Given the description of an element on the screen output the (x, y) to click on. 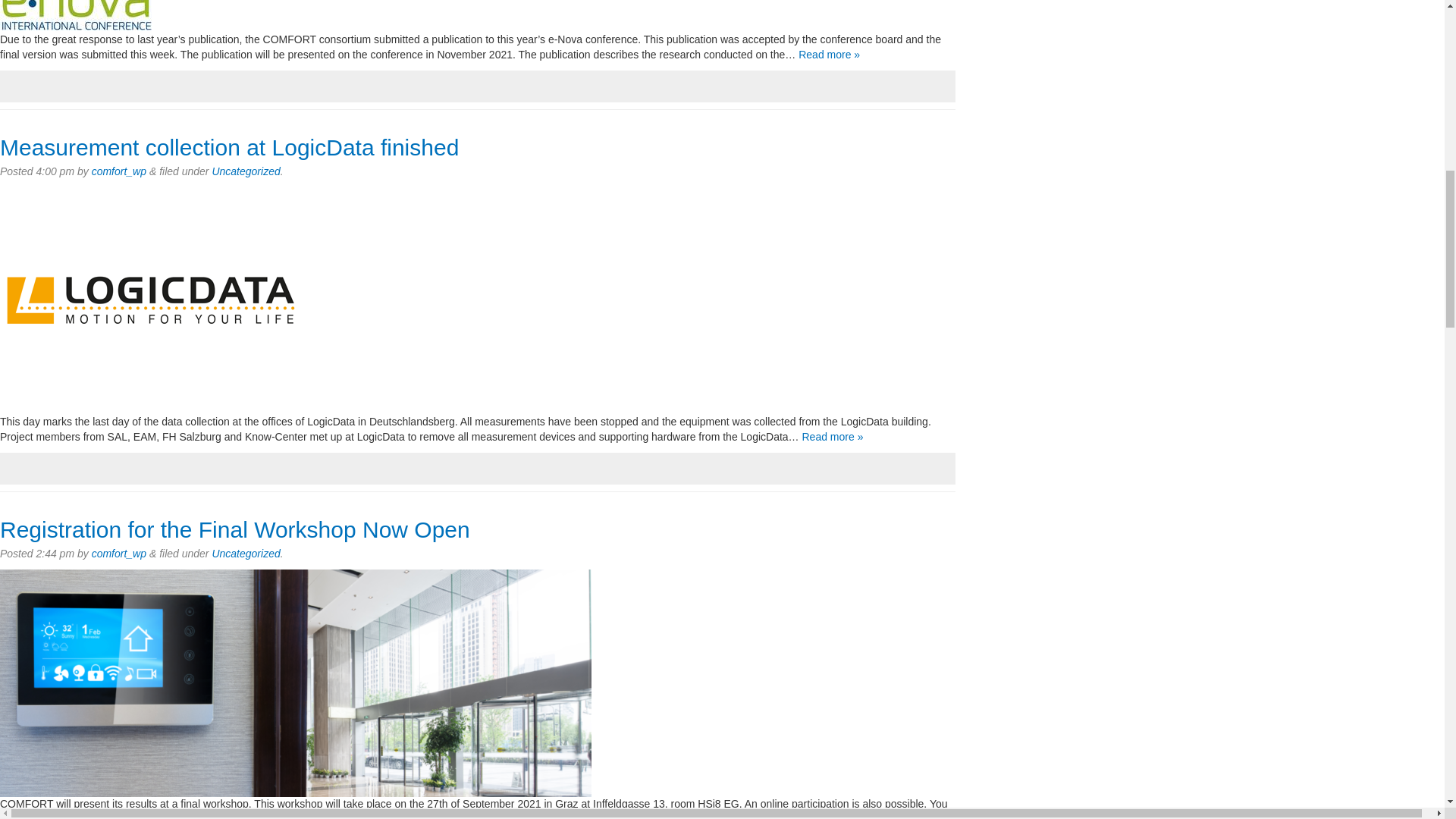
Read Measurement collection at LogicData finished (832, 436)
Measurement collection at LogicData finished (229, 147)
Uncategorized (245, 171)
Registration for the Final Workshop Now Open (235, 529)
Measurement collection at LogicData finished (229, 147)
Registration for the Final Workshop Now Open (235, 529)
Uncategorized (245, 553)
Read COMFORT publication at e-Nova 2021 (828, 54)
